Given the description of an element on the screen output the (x, y) to click on. 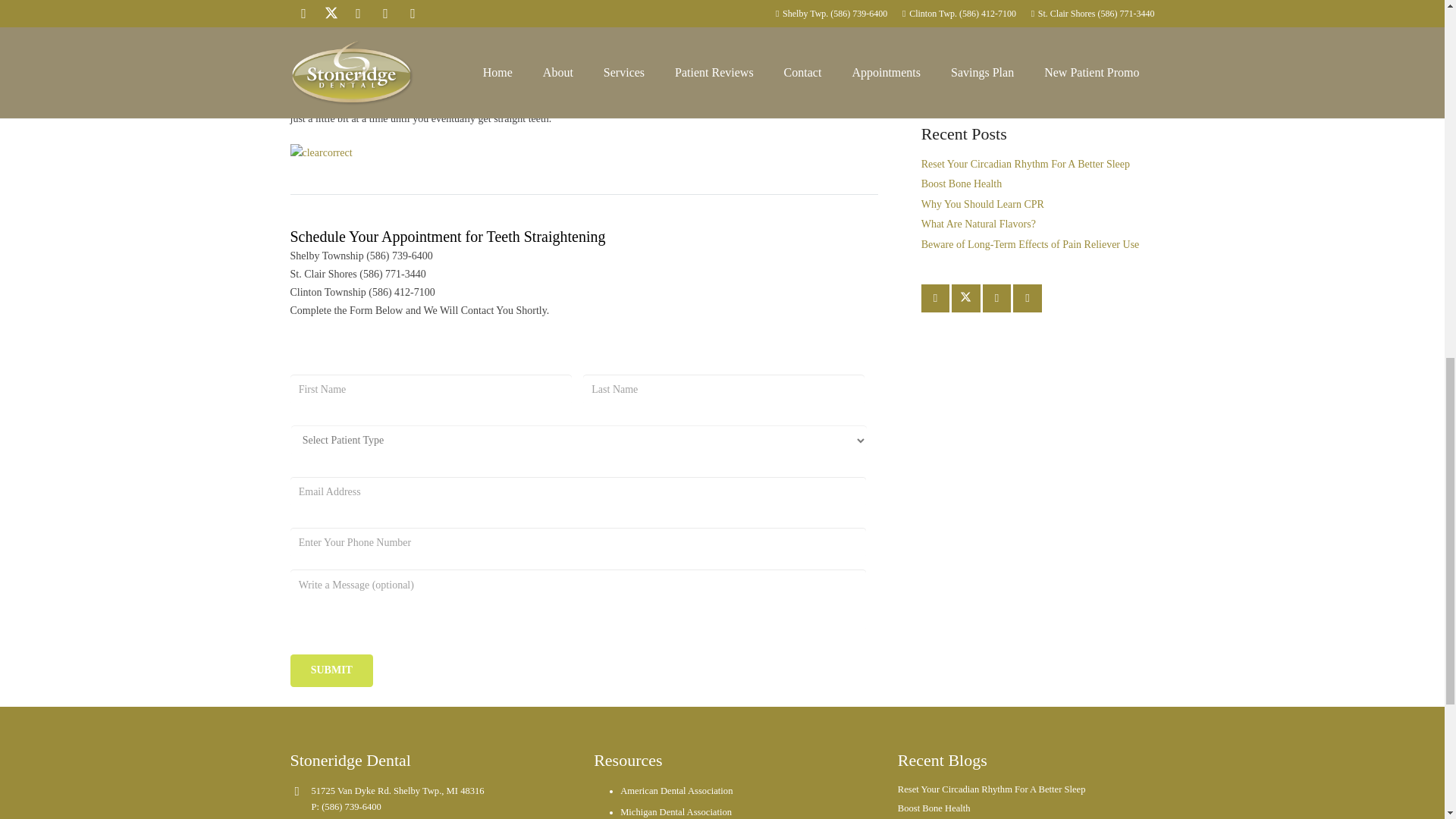
Twitter (965, 298)
LinkedIn (1027, 298)
Google (996, 298)
Submit (330, 670)
Submit (330, 670)
Facebook (935, 298)
Back to top (1413, 26)
